Given the description of an element on the screen output the (x, y) to click on. 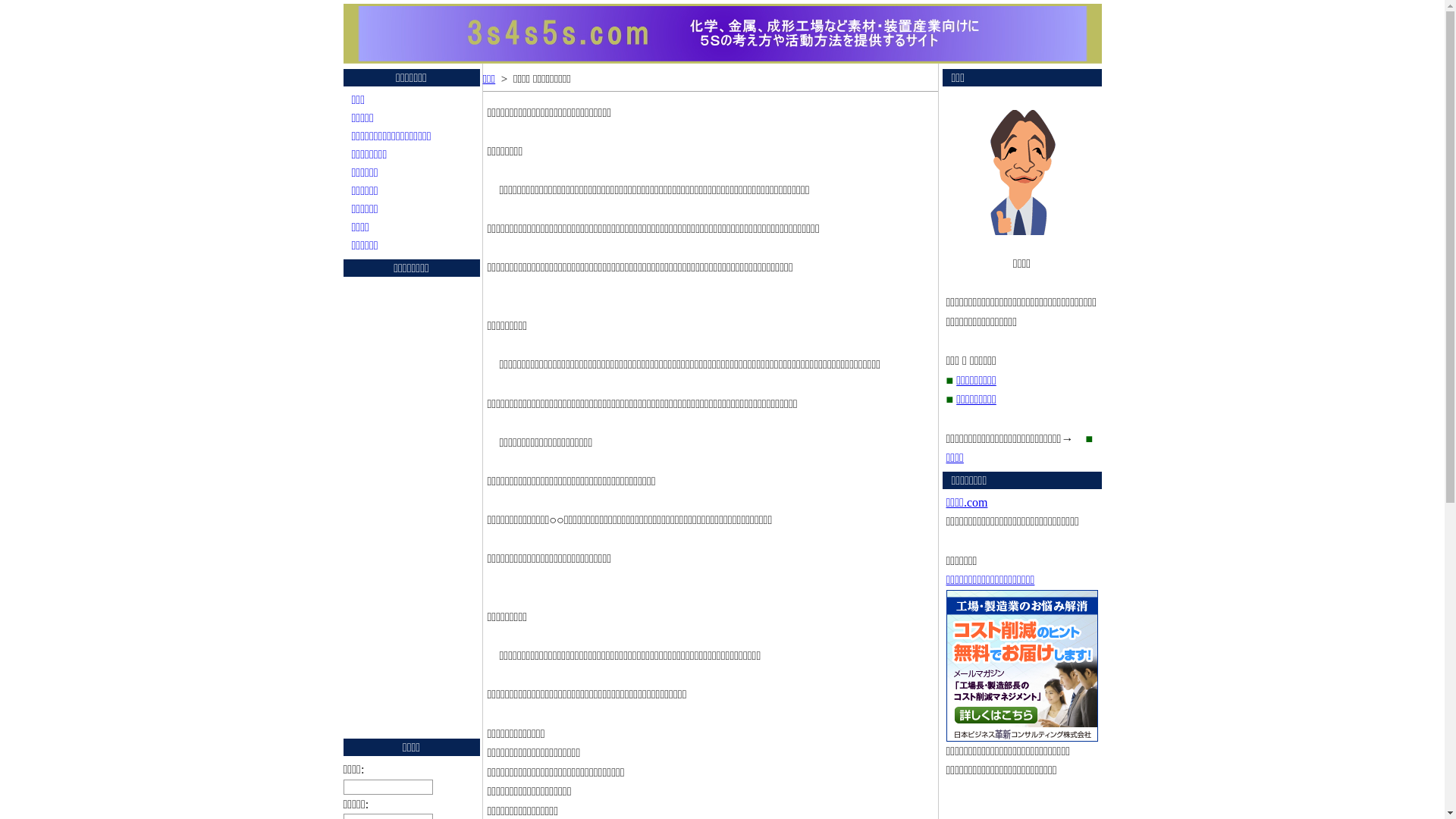
Advertisement Element type: hover (403, 506)
